Given the description of an element on the screen output the (x, y) to click on. 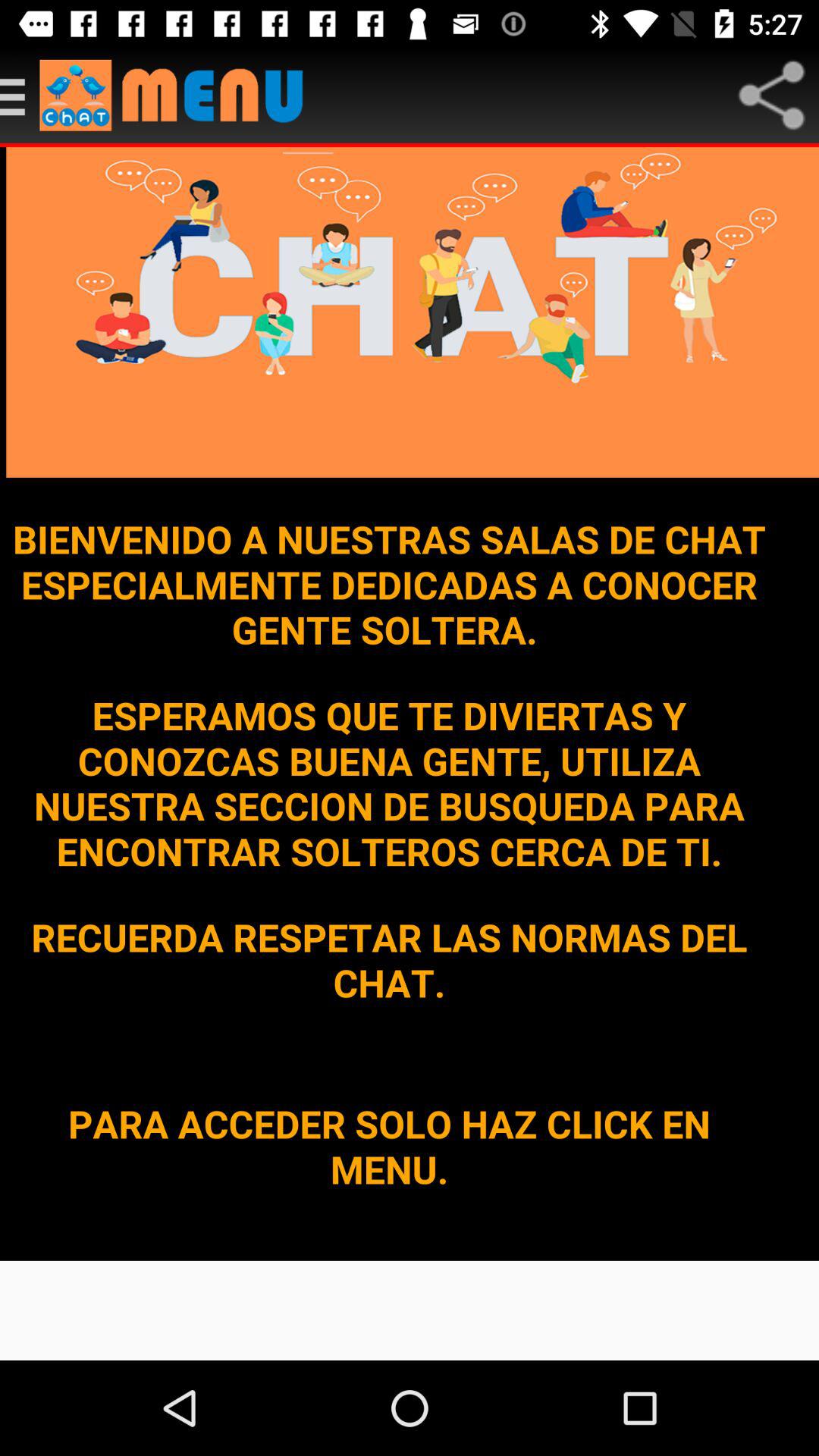
article (19, 95)
